Given the description of an element on the screen output the (x, y) to click on. 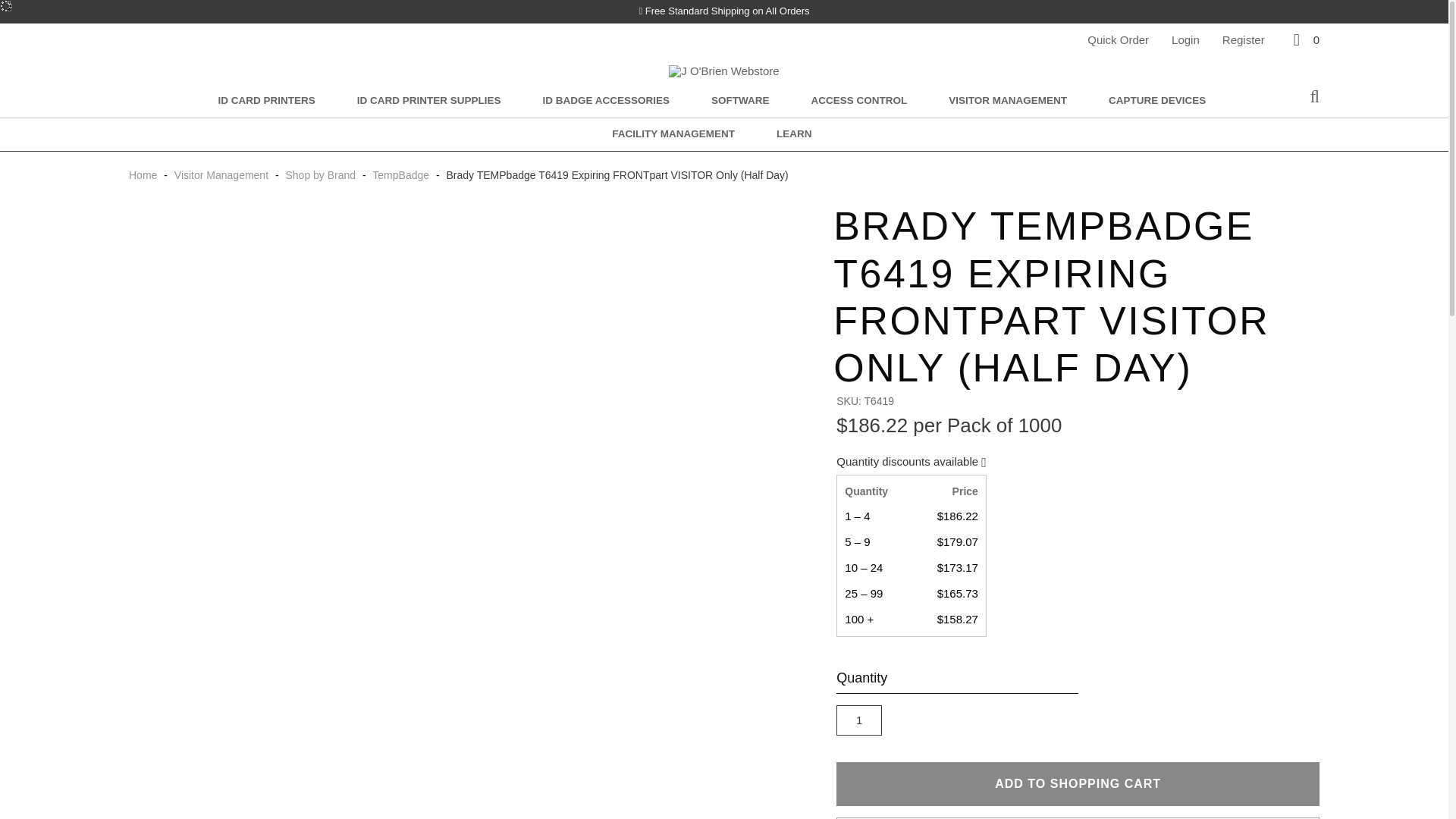
ID CARD PRINTERS (265, 101)
Register (1243, 39)
Quick Order (1117, 39)
ID CARD PRINTER SUPPLIES (428, 101)
Cart (1304, 39)
0 (1304, 39)
J O'Brien Webstore (723, 70)
Quick Order (1117, 39)
1 (858, 720)
Login (1185, 39)
